Given the description of an element on the screen output the (x, y) to click on. 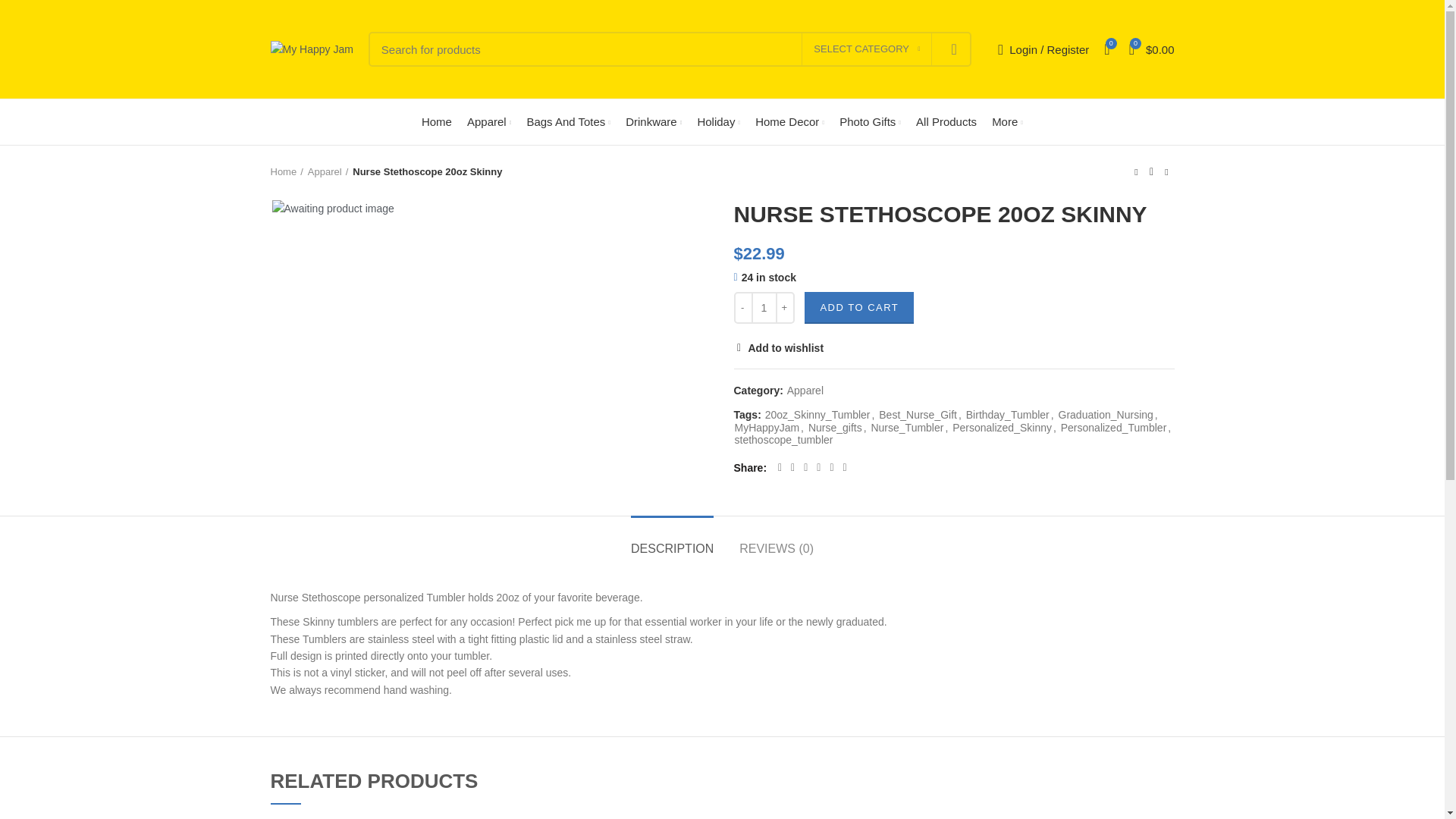
Shopping cart (1151, 49)
Search for products (669, 48)
My account (1043, 49)
SELECT CATEGORY (866, 49)
Special (18, 299)
SELECT CATEGORY (866, 49)
Special (869, 122)
